Given the description of an element on the screen output the (x, y) to click on. 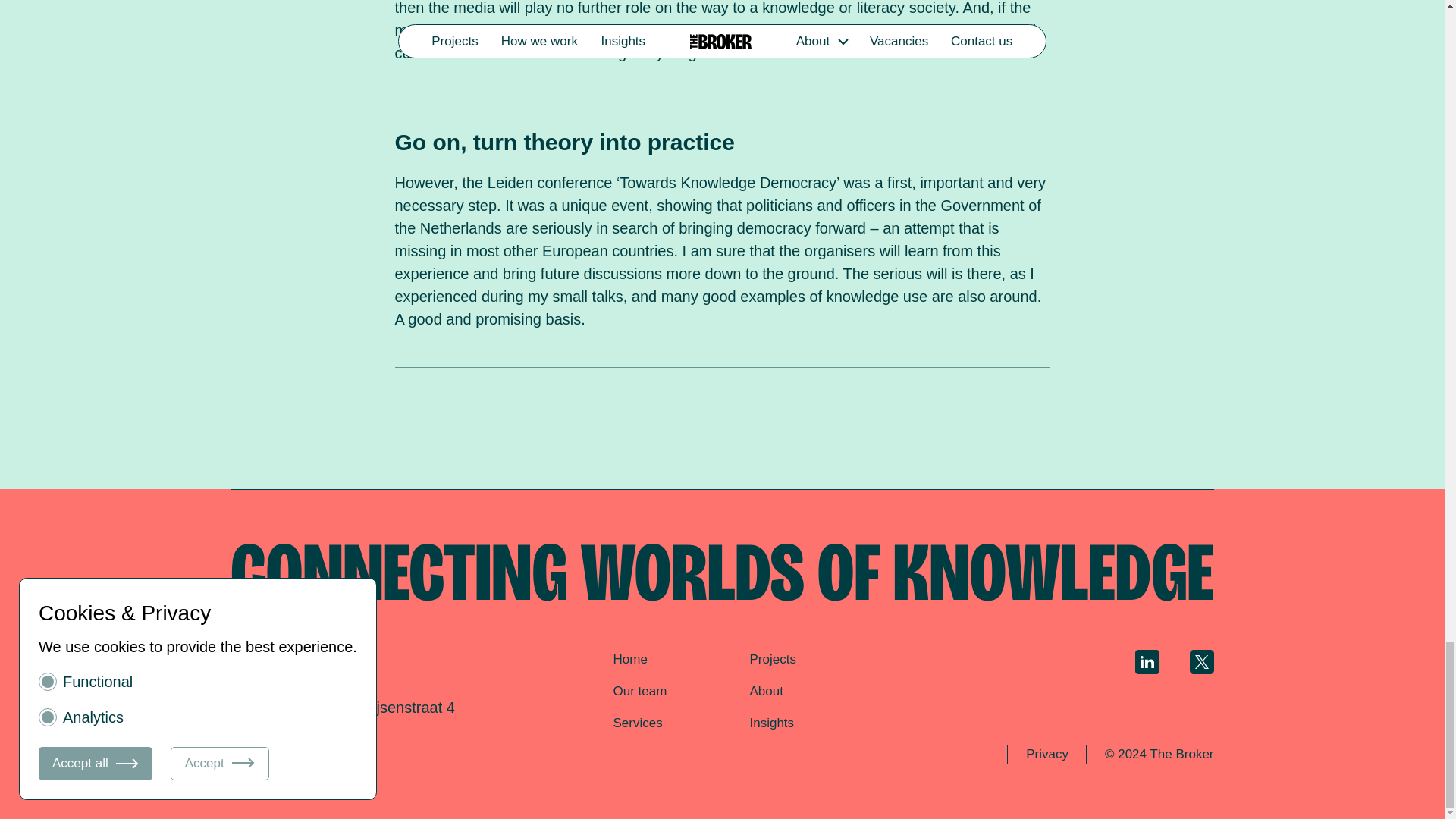
Insights (771, 722)
Privacy (1046, 754)
Home (629, 658)
About (766, 690)
Our team (639, 690)
Projects (771, 658)
Services (637, 722)
